Given the description of an element on the screen output the (x, y) to click on. 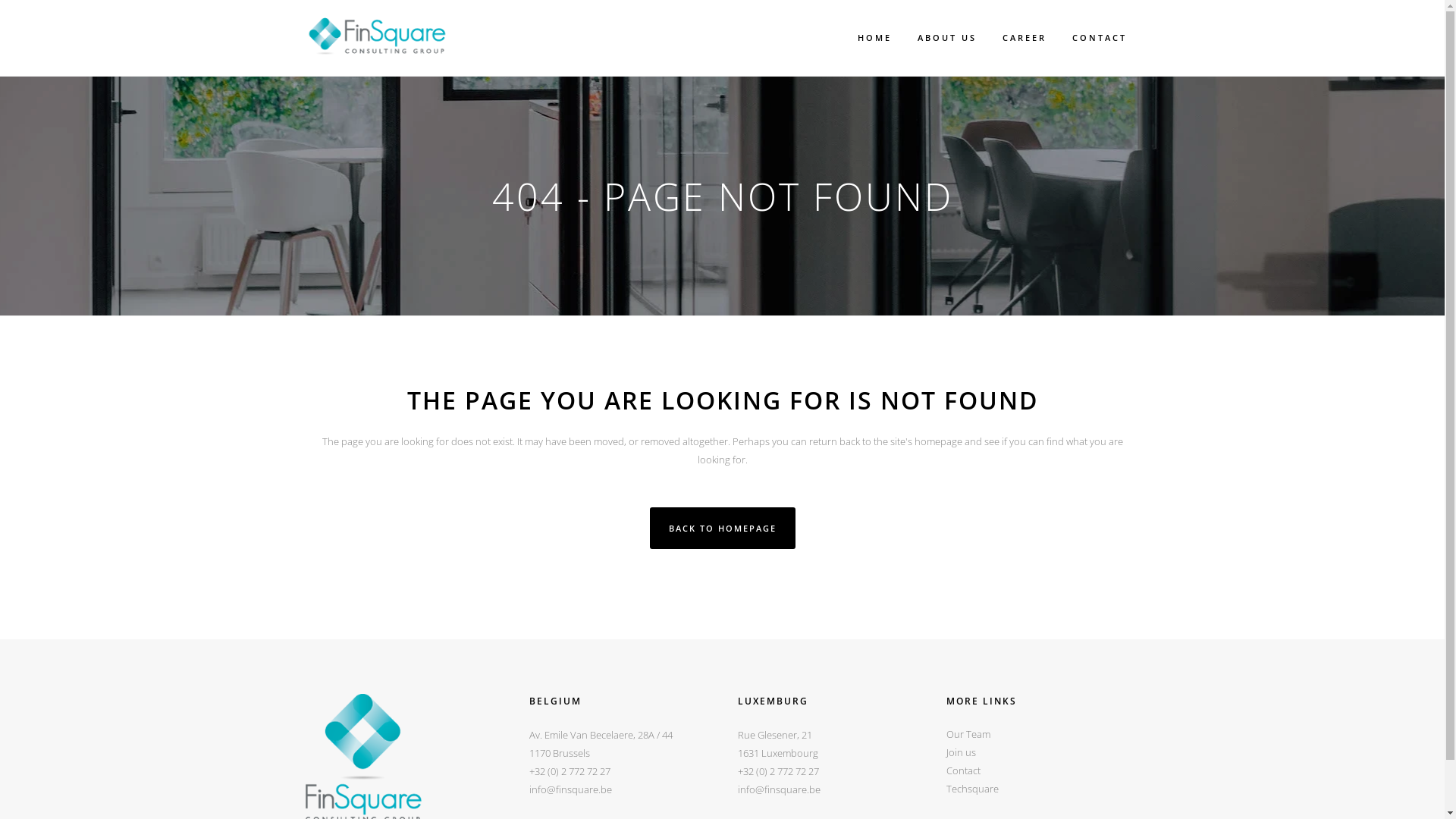
HOME Element type: text (874, 37)
CONTACT Element type: text (1098, 37)
+32 (0) 2 772 72 27 Element type: text (777, 771)
ABOUT US Element type: text (945, 37)
BACK TO HOMEPAGE Element type: text (721, 528)
CAREER Element type: text (1023, 37)
Techsquare Element type: text (1042, 788)
Our Team Element type: text (1042, 733)
Join us Element type: text (1042, 751)
+32 (0) 2 772 72 27 Element type: text (569, 771)
Contact Element type: text (1042, 770)
